Given the description of an element on the screen output the (x, y) to click on. 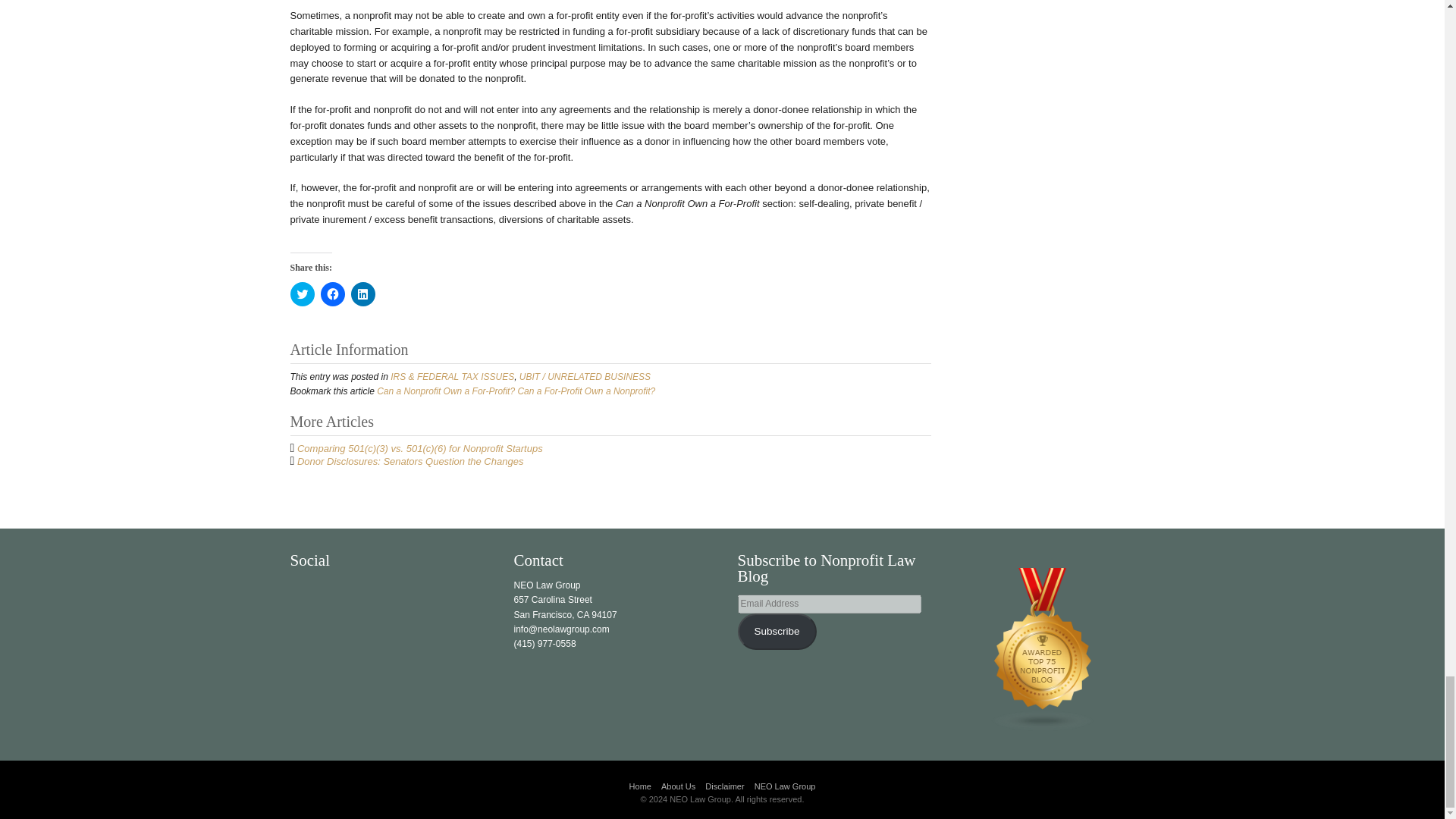
Click to share on Twitter (301, 293)
NEO Law Group (784, 786)
Click to share on LinkedIn (362, 293)
Donor Disclosures: Senators Question the Changes (409, 460)
Nonprofit blogs (1042, 648)
Click to share on Facebook (331, 293)
